Given the description of an element on the screen output the (x, y) to click on. 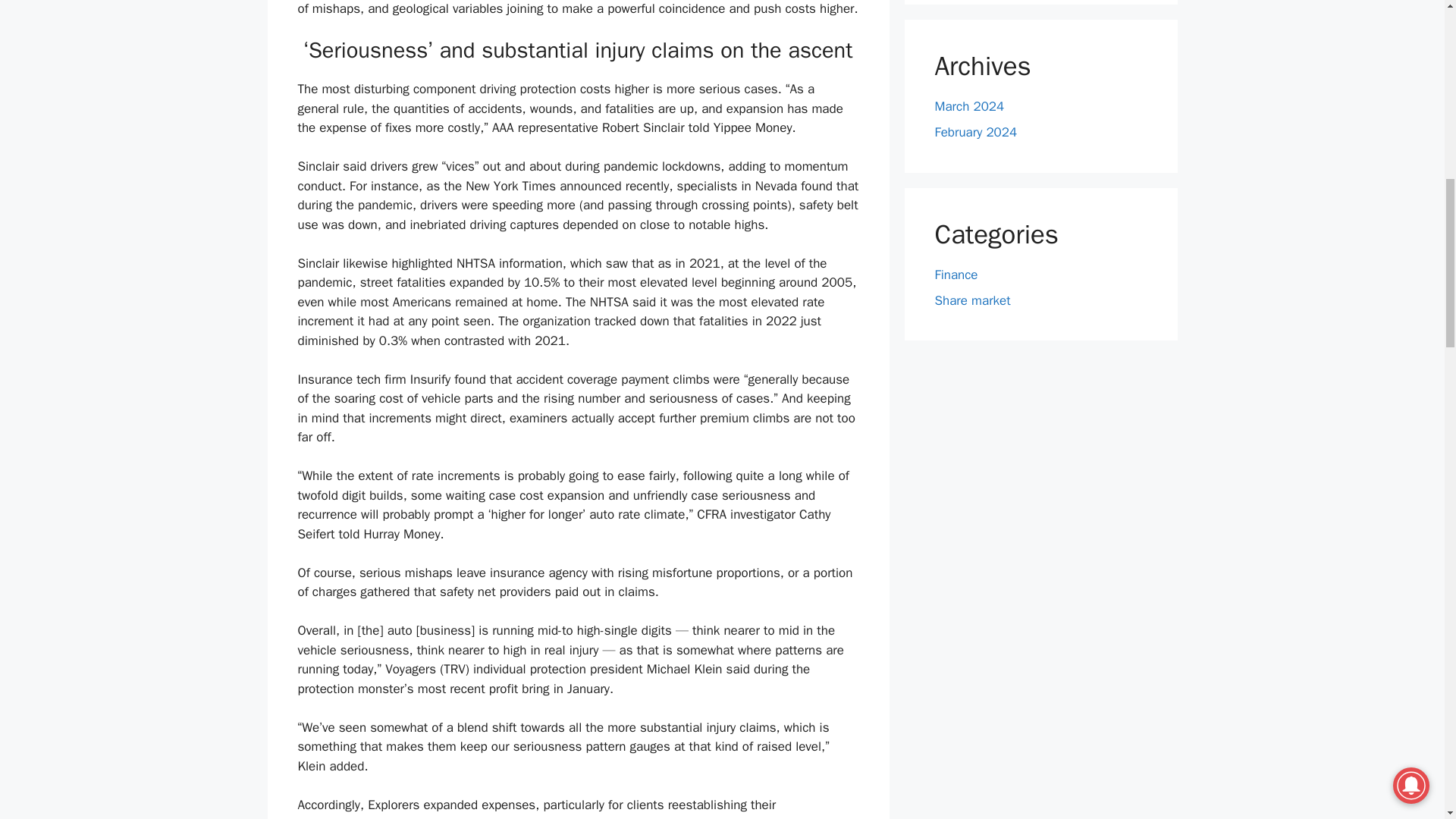
March 2024 (969, 106)
Finance (955, 274)
Share market (972, 300)
February 2024 (975, 132)
